Given the description of an element on the screen output the (x, y) to click on. 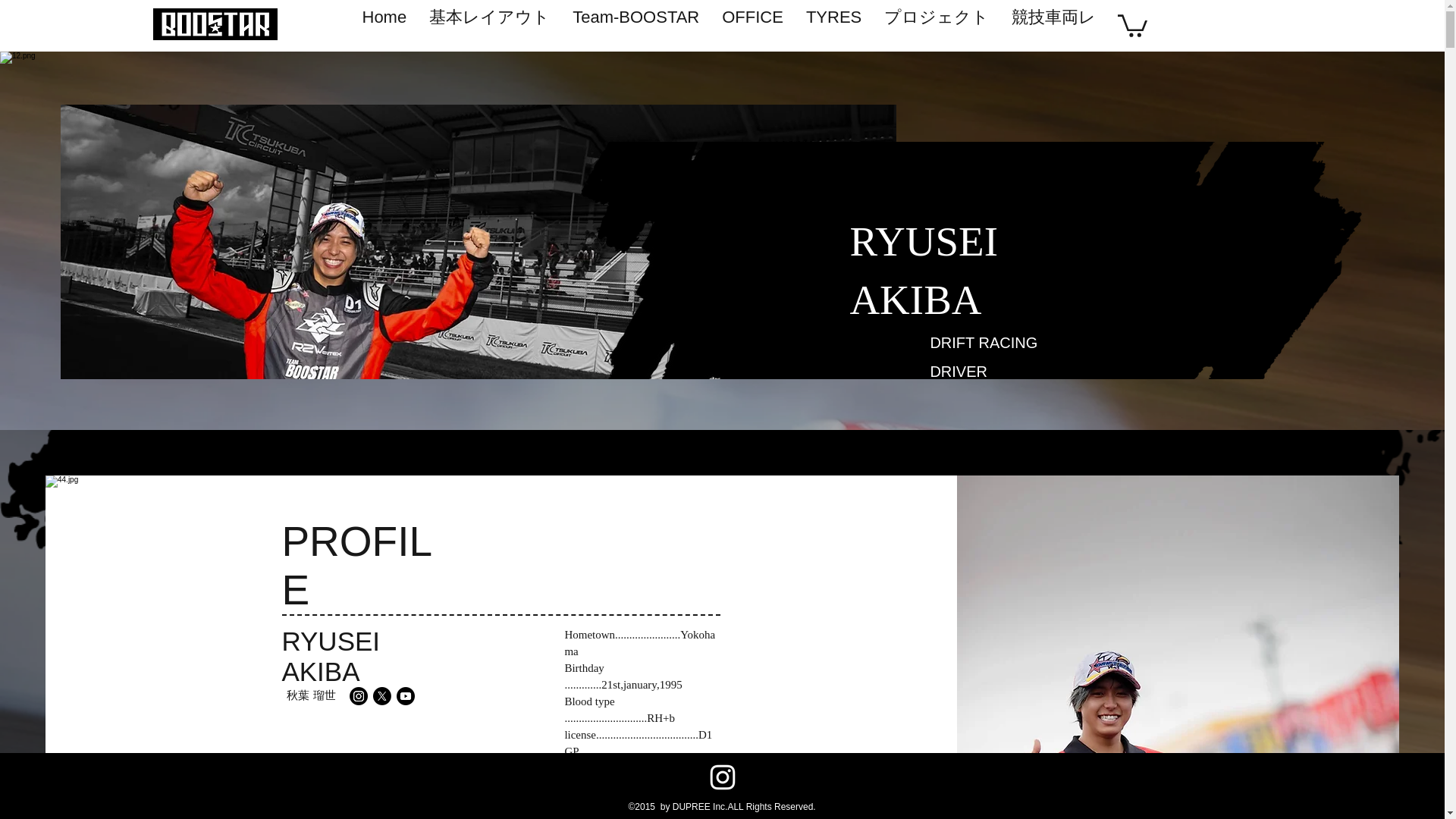
Home (383, 24)
TYRES (833, 24)
OFFICE (752, 24)
Team-BOOSTAR (635, 24)
